Given the description of an element on the screen output the (x, y) to click on. 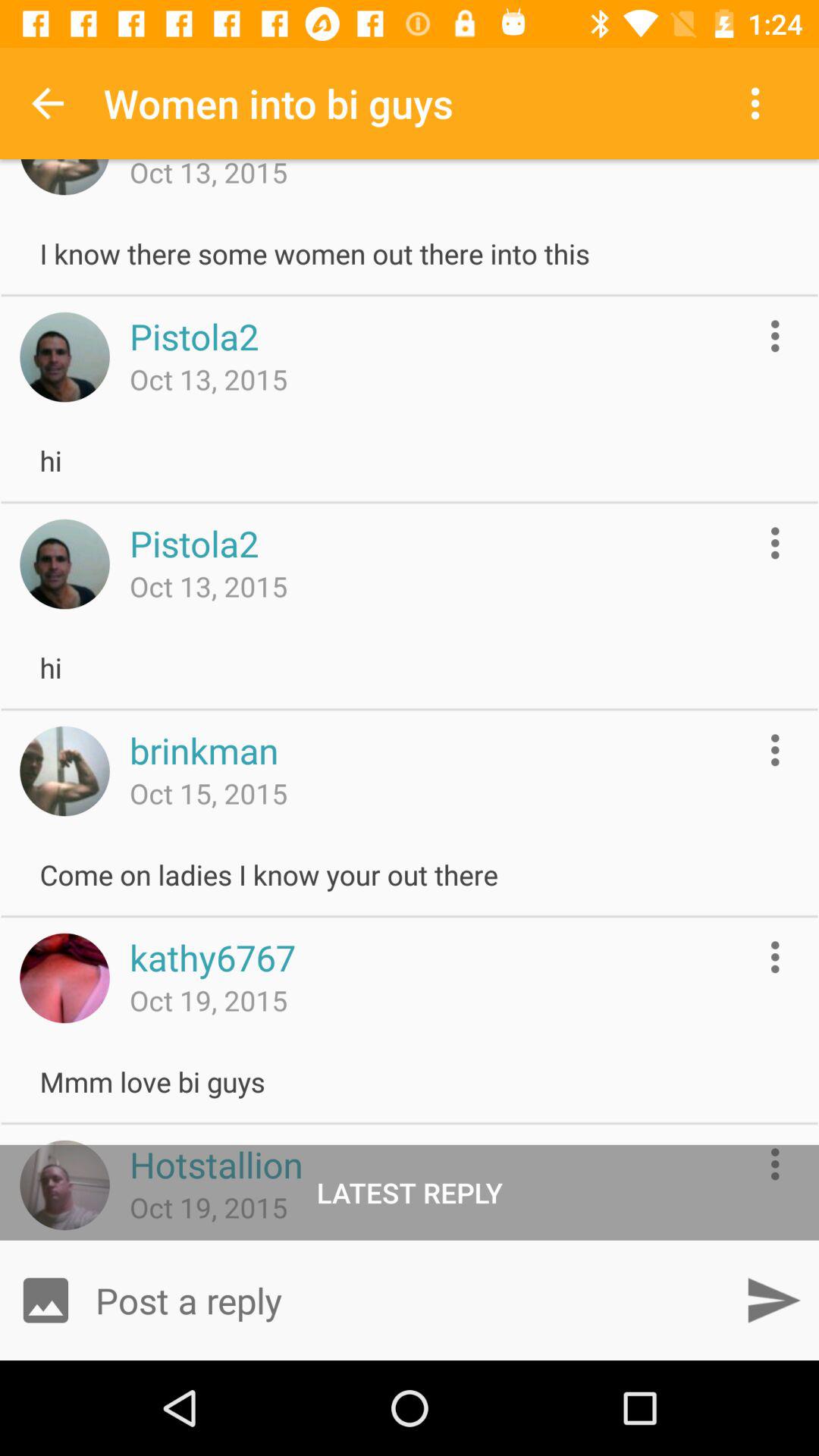
profile picture (64, 357)
